Given the description of an element on the screen output the (x, y) to click on. 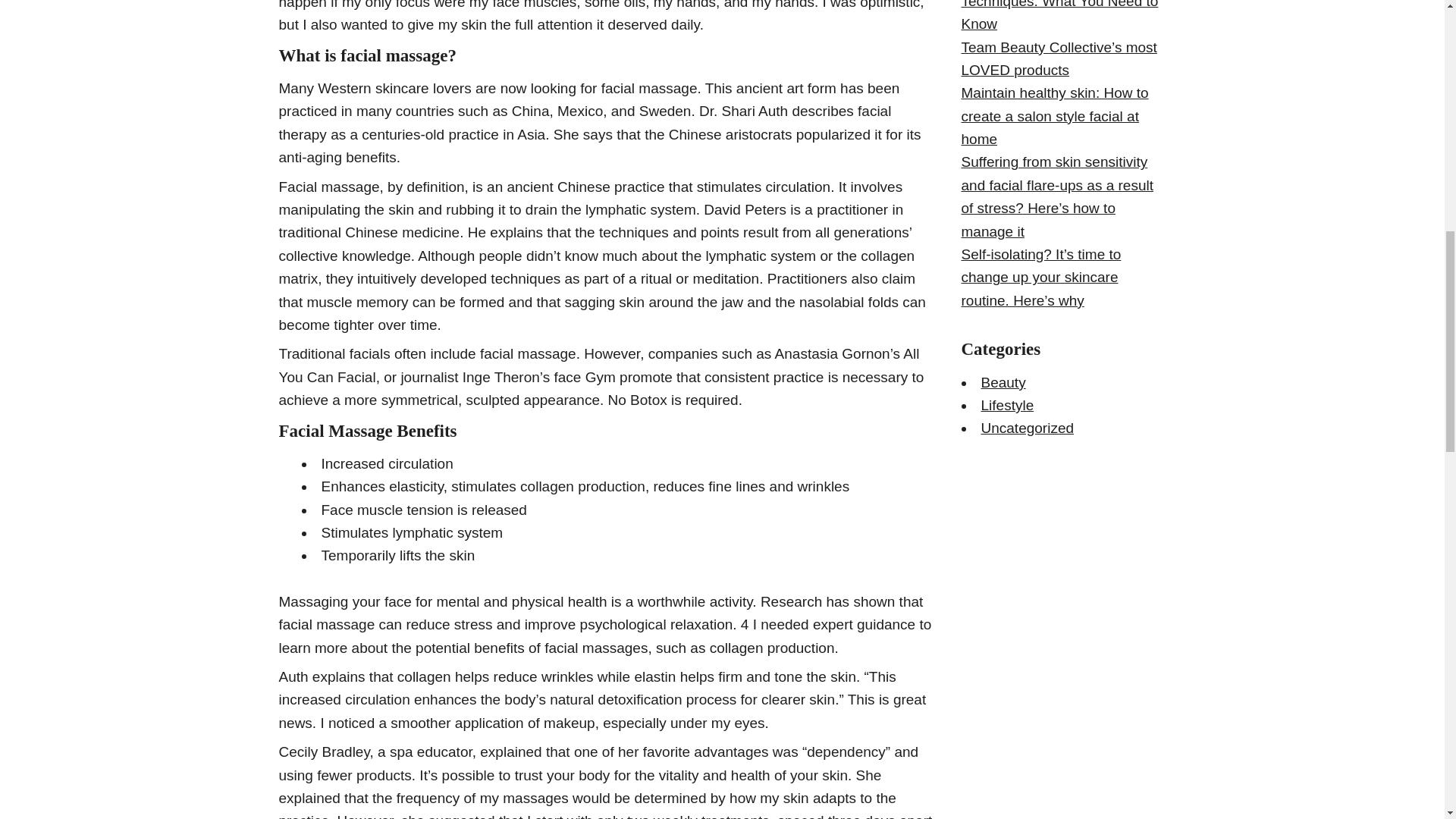
Lifestyle (1007, 405)
Uncategorized (1027, 427)
Beauty (1003, 382)
